Given the description of an element on the screen output the (x, y) to click on. 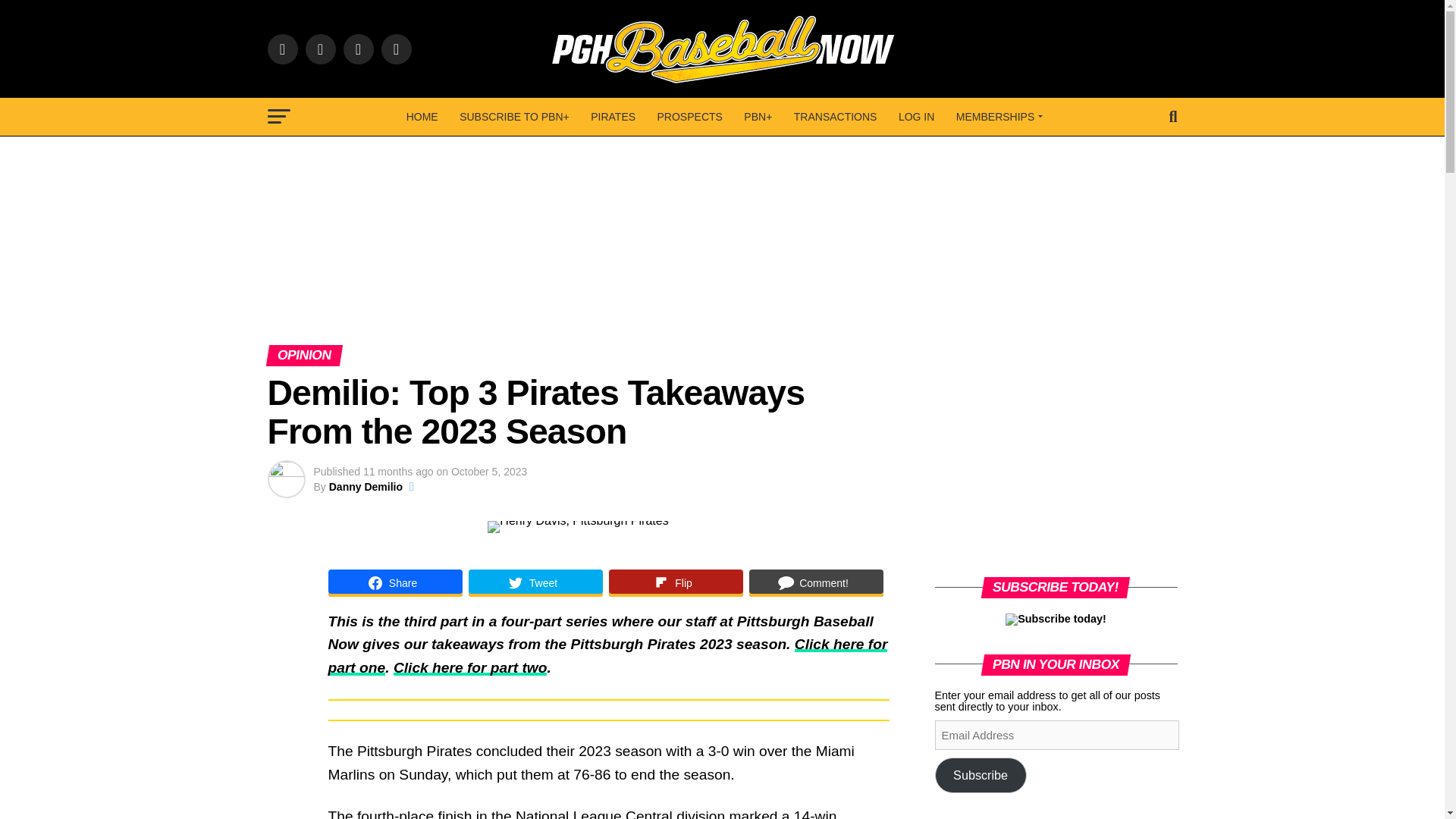
HOME (421, 116)
PIRATES (612, 116)
Share on Share (394, 583)
Share on Comment! (816, 583)
Share on Tweet (535, 583)
Posts by Danny Demilio (366, 486)
Share on Flip (675, 583)
